Given the description of an element on the screen output the (x, y) to click on. 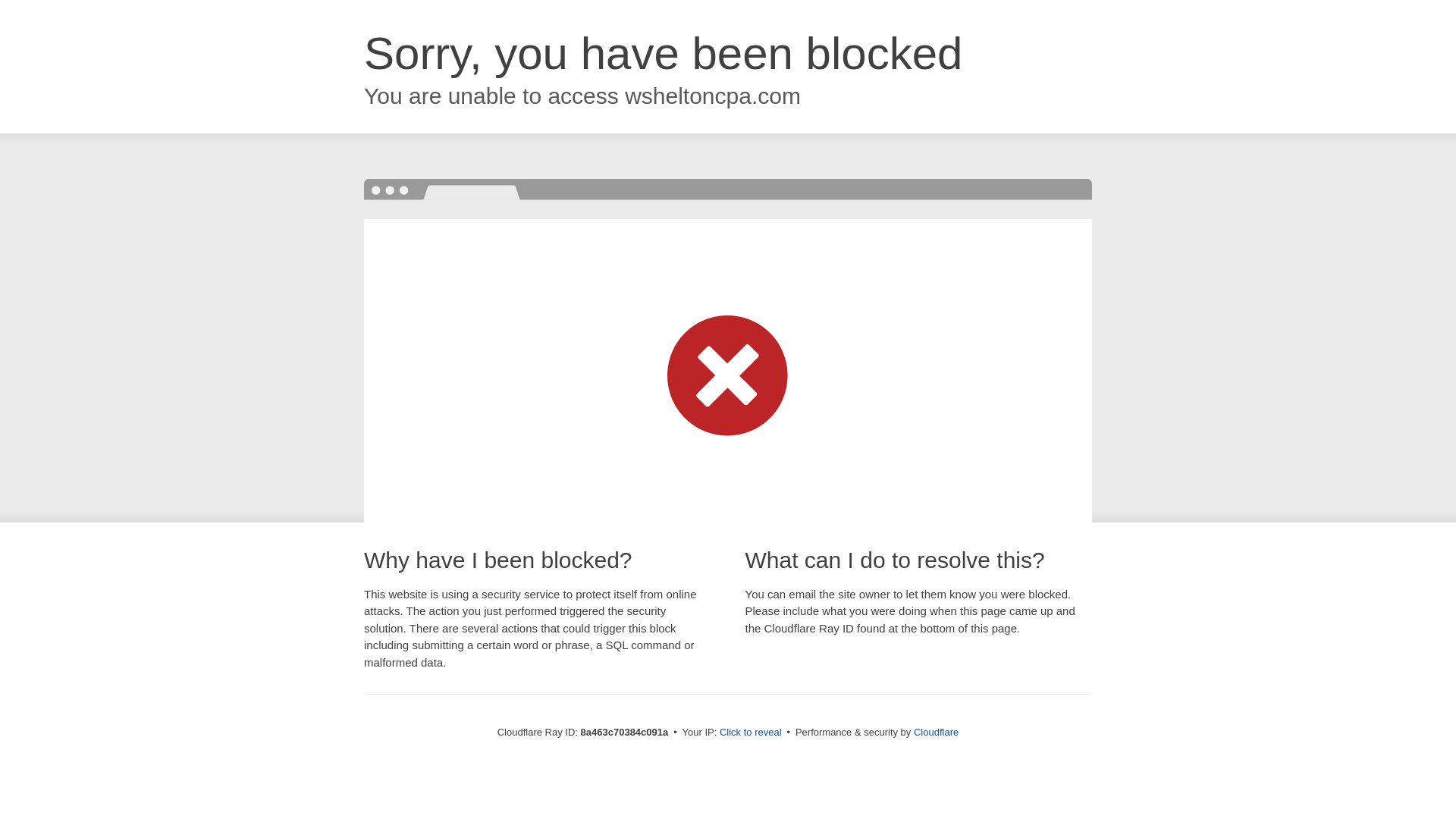
Click to reveal (750, 732)
Cloudflare (936, 731)
